Given the description of an element on the screen output the (x, y) to click on. 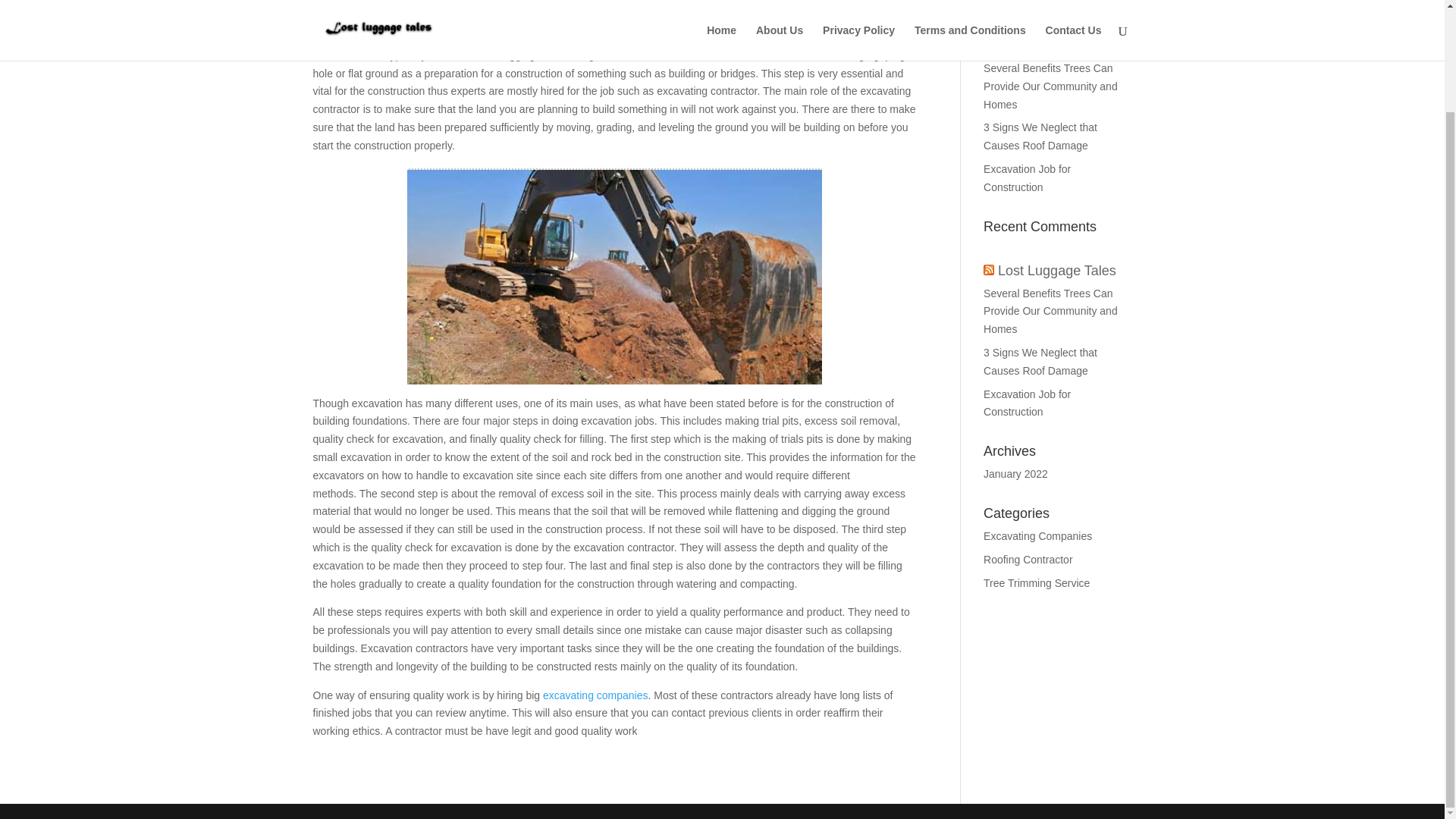
Lost Luggage Tales (1056, 270)
Roofing Contractor (1028, 559)
Several Benefits Trees Can Provide Our Community and Homes (1051, 86)
excavating companies (595, 695)
Excavation Job for Construction (452, 3)
Several Benefits Trees Can Provide Our Community and Homes (1051, 311)
Excavation Job for Construction (1027, 177)
Excavation Job for Construction (1027, 403)
Search (1106, 7)
January 2022 (1016, 473)
